Given the description of an element on the screen output the (x, y) to click on. 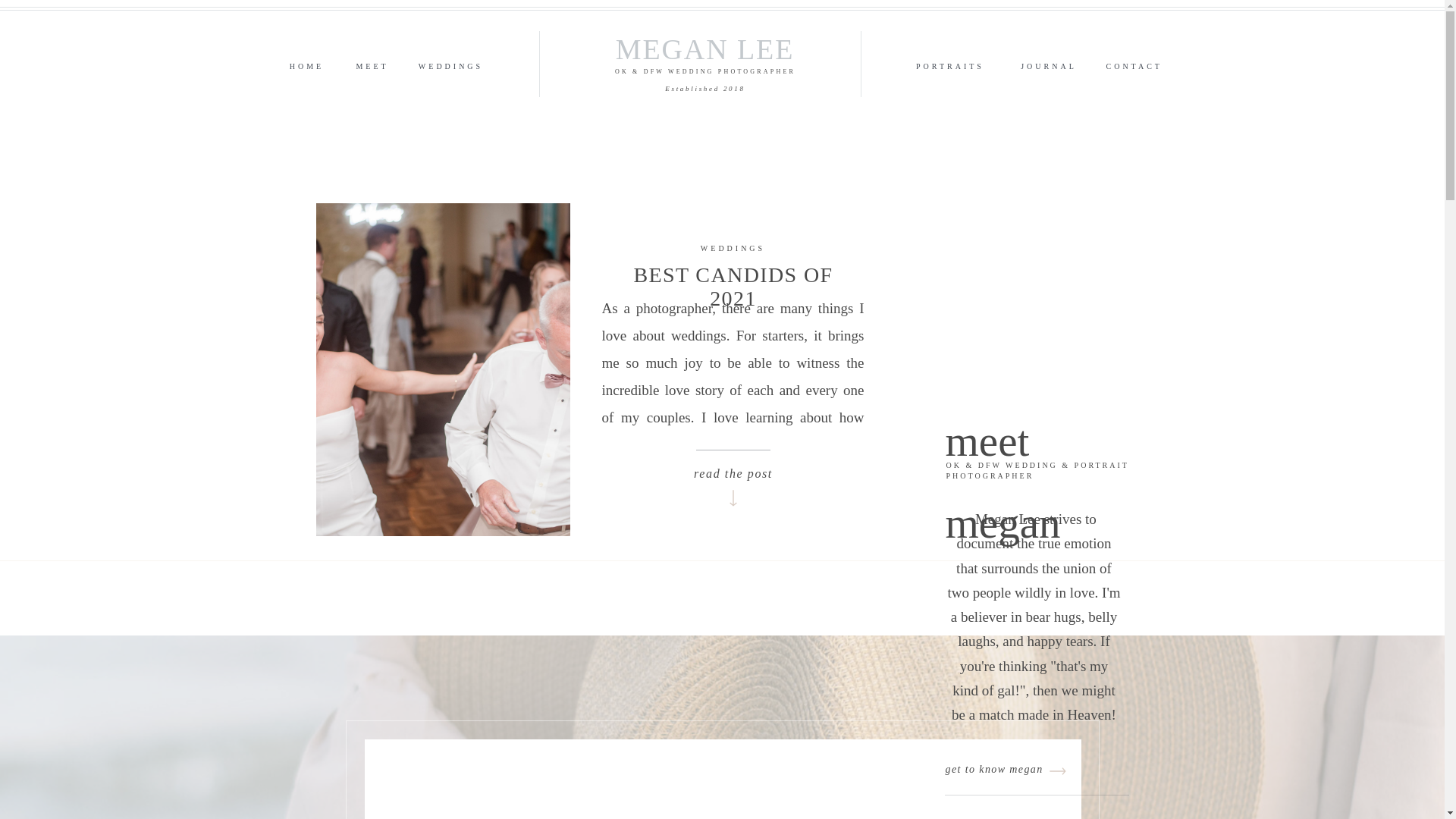
get to know megan (1014, 766)
WEDDINGS (449, 63)
WEDDINGS (732, 248)
Best Candids of 2021 (736, 493)
HOME (307, 62)
PORTRAITS (950, 62)
MEET (371, 62)
CONTACT (1132, 63)
BEST CANDIDS OF 2021 (732, 286)
read the post (732, 468)
MEGAN LEE (704, 40)
JOURNAL (1047, 62)
Best Candids of 2021 (732, 468)
